Given the description of an element on the screen output the (x, y) to click on. 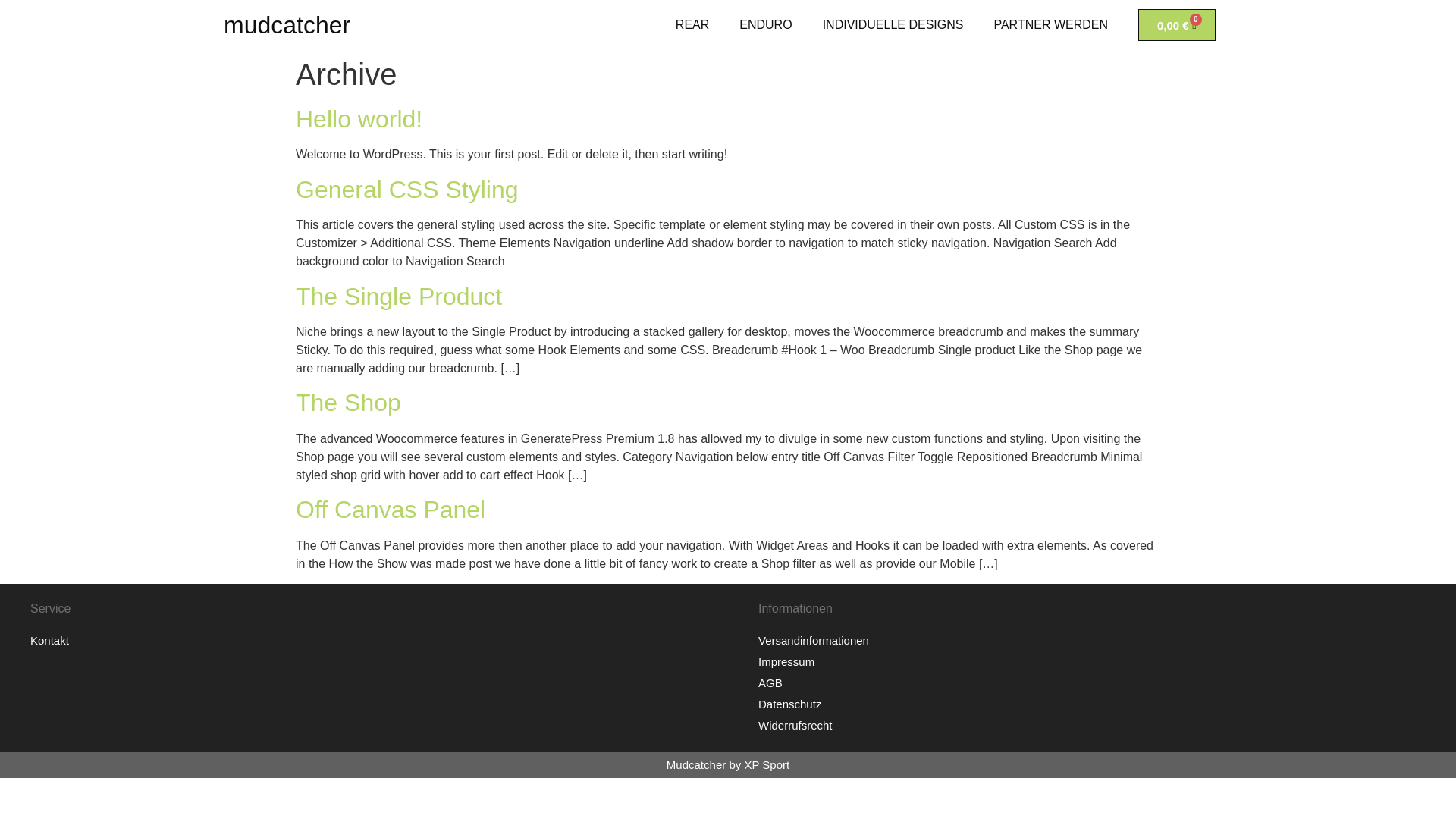
Widerrufsrecht (1099, 725)
Versandinformationen (1099, 640)
Kontakt (371, 640)
AGB (1099, 682)
INDIVIDUELLE DESIGNS (893, 24)
Impressum (1099, 661)
PARTNER WERDEN (1050, 24)
Hello world! (358, 118)
REAR (692, 24)
General CSS Styling (406, 189)
Off Canvas Panel (389, 509)
Datenschutz (1099, 703)
The Single Product (398, 296)
ENDURO (764, 24)
The Shop (348, 402)
